Given the description of an element on the screen output the (x, y) to click on. 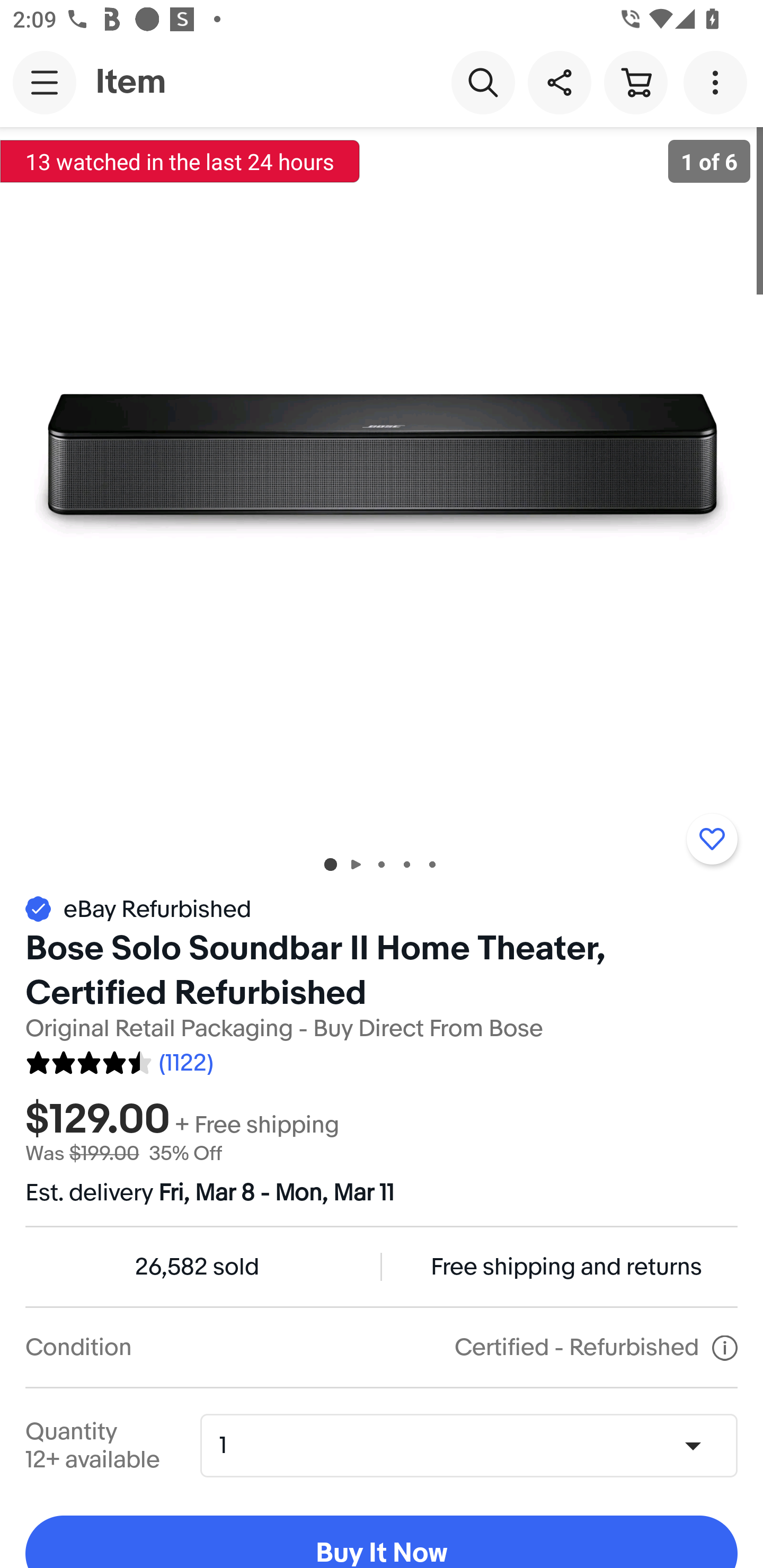
Main navigation, open (44, 82)
Search (482, 81)
Share this item (559, 81)
Cart button shopping cart (635, 81)
More options (718, 81)
Item image 1 of 6 (381, 482)
13 watched in the last 24 hours (180, 161)
Add to watchlist (711, 838)
Quantity,1,12+ available 1 (474, 1445)
Buy It Now (381, 1542)
